Given the description of an element on the screen output the (x, y) to click on. 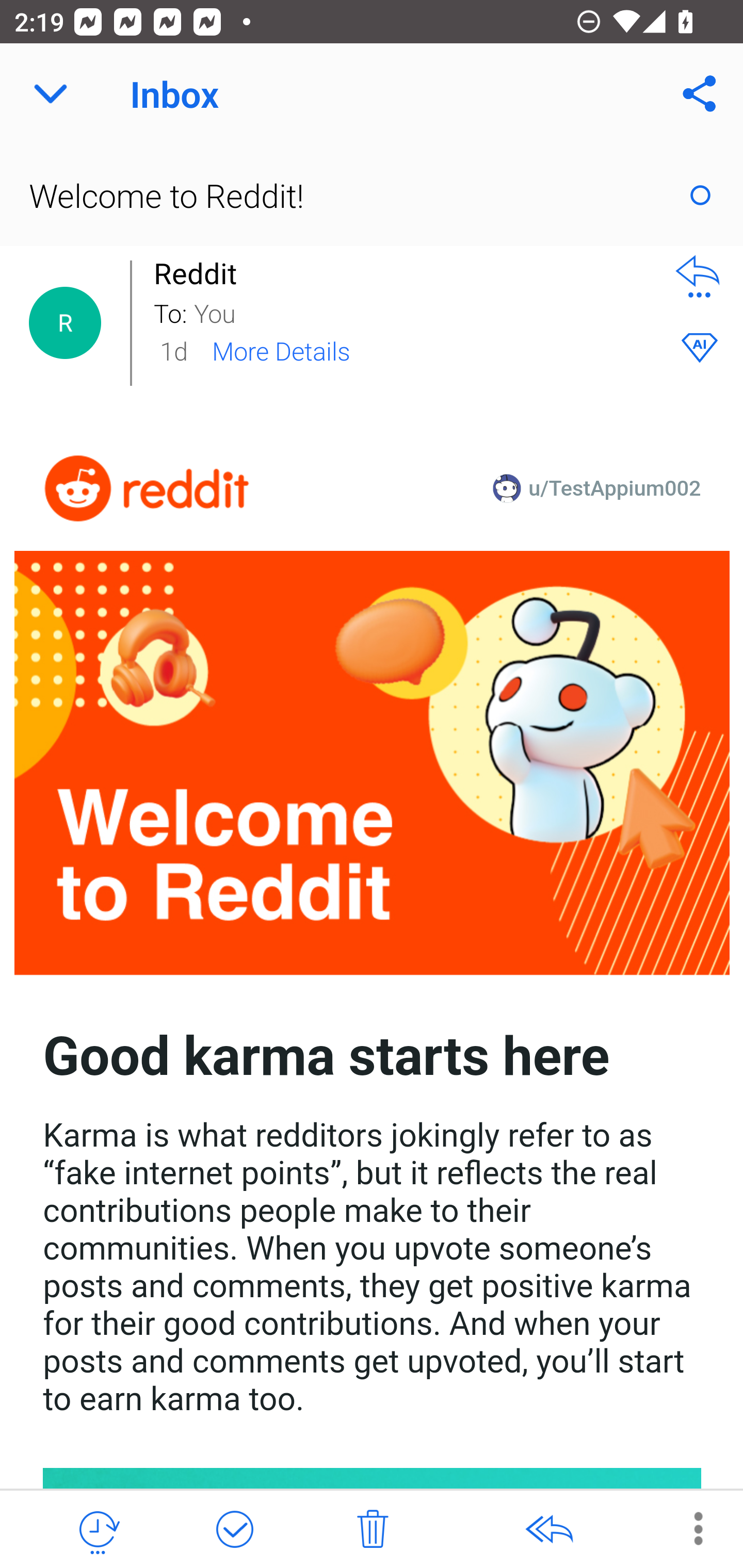
Navigate up (50, 93)
Share (699, 93)
Mark as Read (699, 194)
Reddit (200, 273)
Contact Details (64, 322)
You (422, 311)
More Details (280, 349)
5AVyDbQDldosuSCzSN88SAnvZ8chDbCd7GuVyi2S6nk=343 (146, 488)
u/TestAppium002 (614, 488)
AFUjuIUIuv3aeh4O72d3hu5g2dfkuNErLdaxy3eAso8=343 (372, 763)
More Options (687, 1528)
Snooze (97, 1529)
Mark as Done (234, 1529)
Delete (372, 1529)
Reply All (548, 1529)
